Given the description of an element on the screen output the (x, y) to click on. 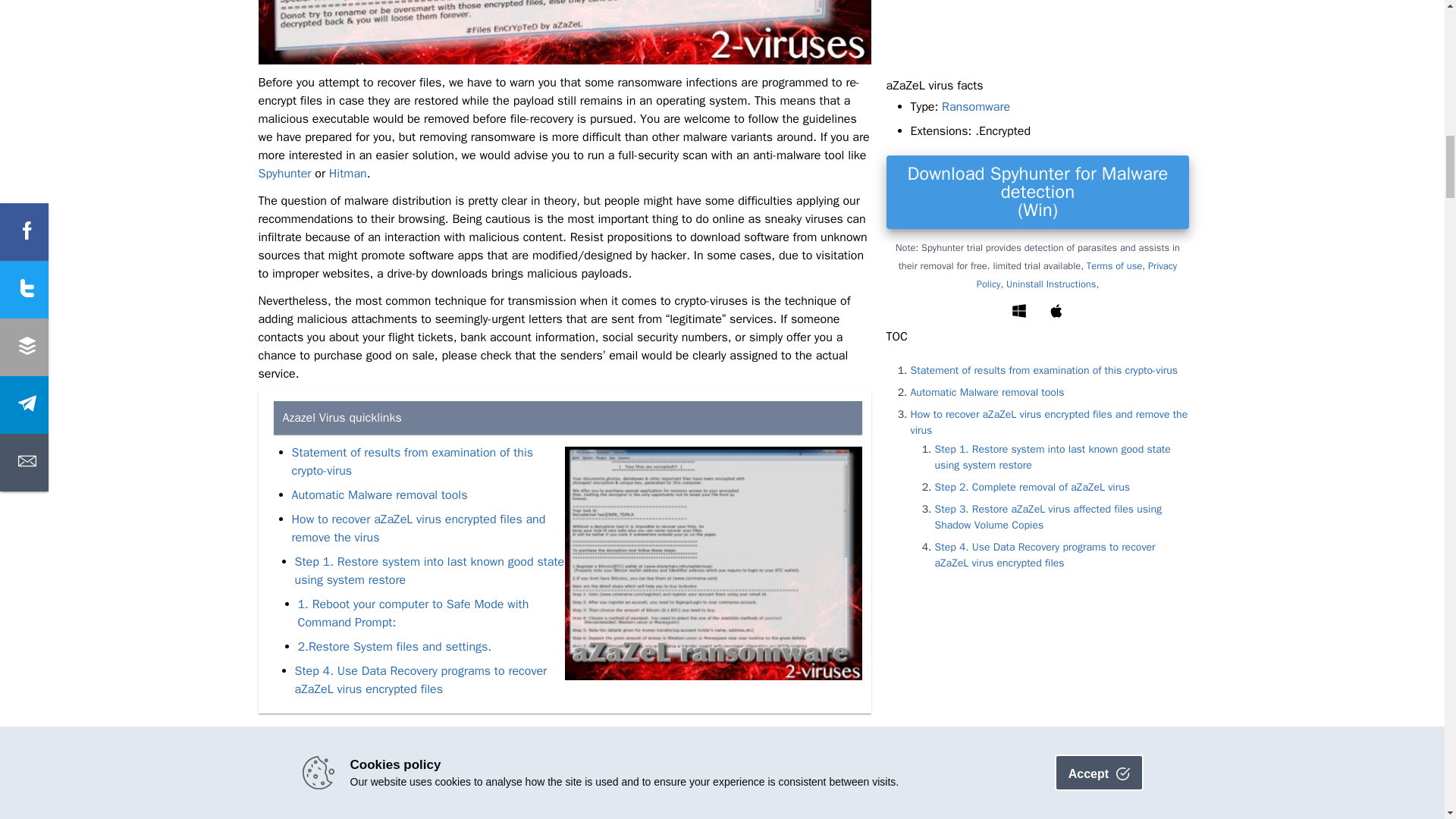
Automatic Malware removal tools (379, 495)
1. Reboot your computer to Safe Mode with Command Prompt: (412, 613)
Hitman (347, 173)
2.Restore System files and settings. (394, 647)
Spyhunter (284, 173)
Statement of results from examination of this crypto-virus (411, 462)
